Given the description of an element on the screen output the (x, y) to click on. 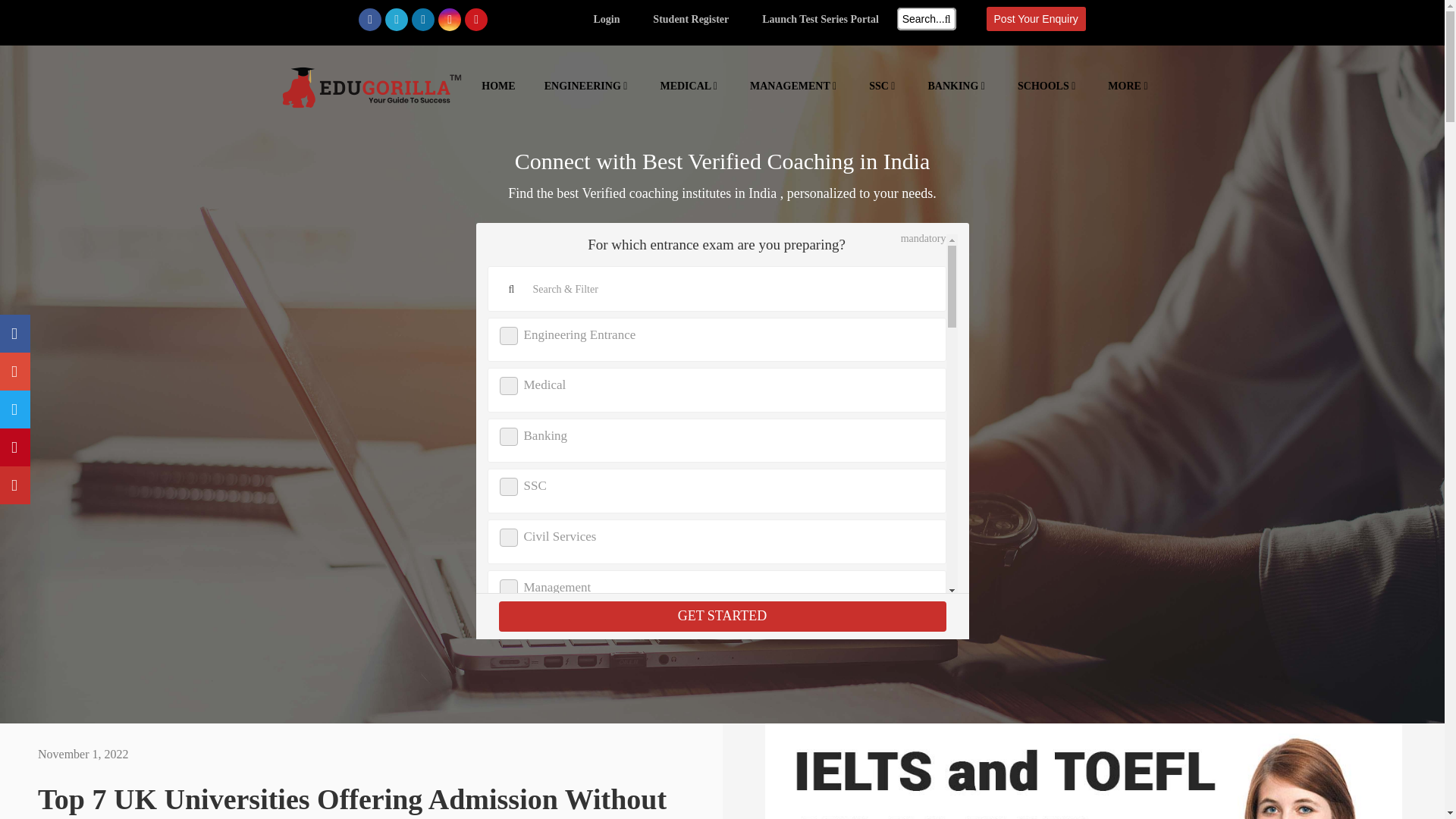
HOME (498, 86)
Student Register (690, 19)
Post Your Enquiry (1036, 18)
Search... (926, 18)
Launch Test Series Portal (820, 19)
ENGINEERING (587, 86)
Login (606, 19)
EduGorilla - Your Guide To Success (372, 94)
